Given the description of an element on the screen output the (x, y) to click on. 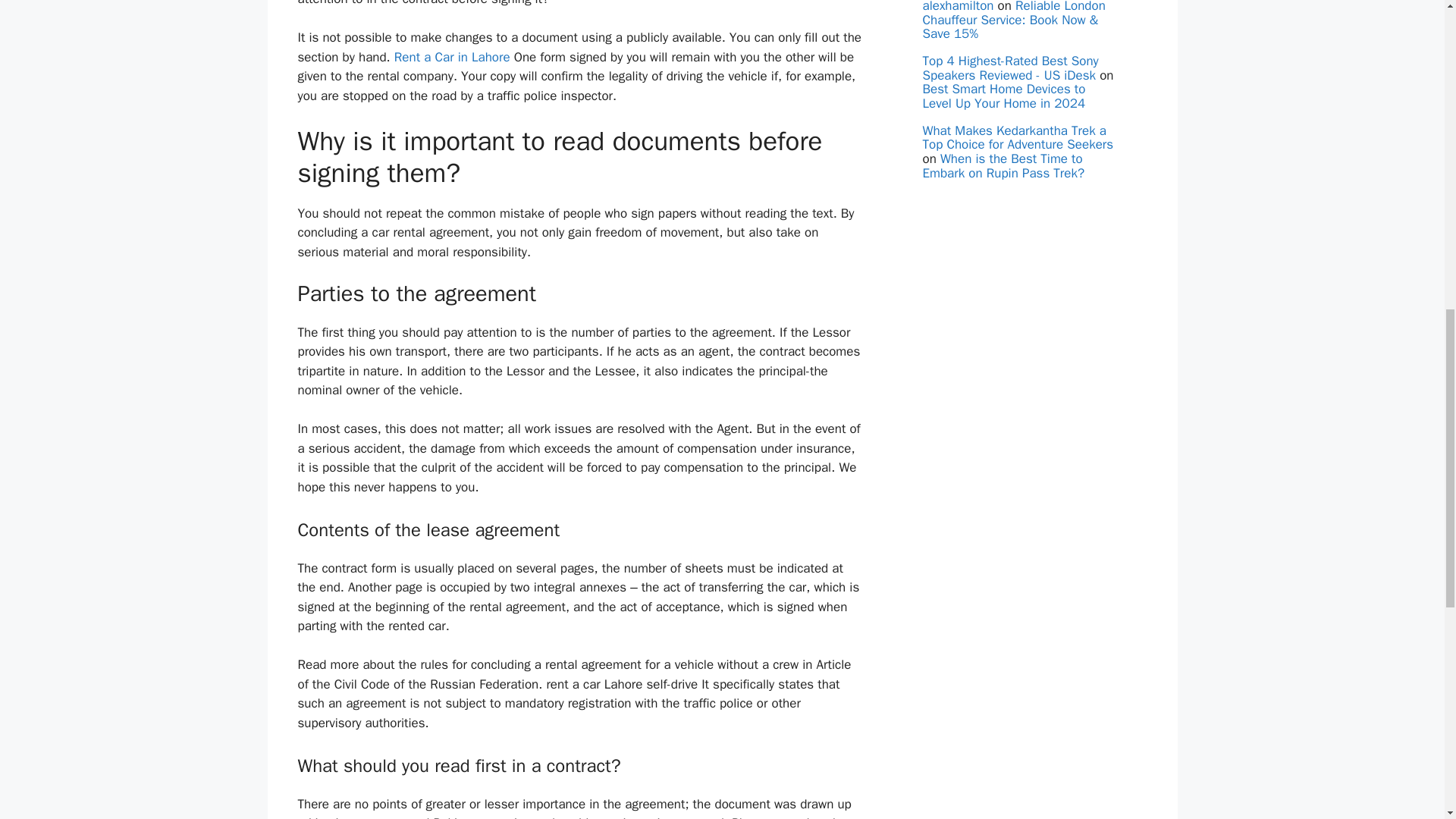
alexhamilton (956, 6)
When is the Best Time to Embark on Rupin Pass Trek? (1002, 165)
Best Smart Home Devices to Level Up Your Home in 2024 (1002, 96)
Scroll back to top (1406, 720)
Top 4 Highest-Rated Best Sony Speakers Reviewed - US iDesk (1009, 68)
Rent a Car in Lahore (452, 57)
